Given the description of an element on the screen output the (x, y) to click on. 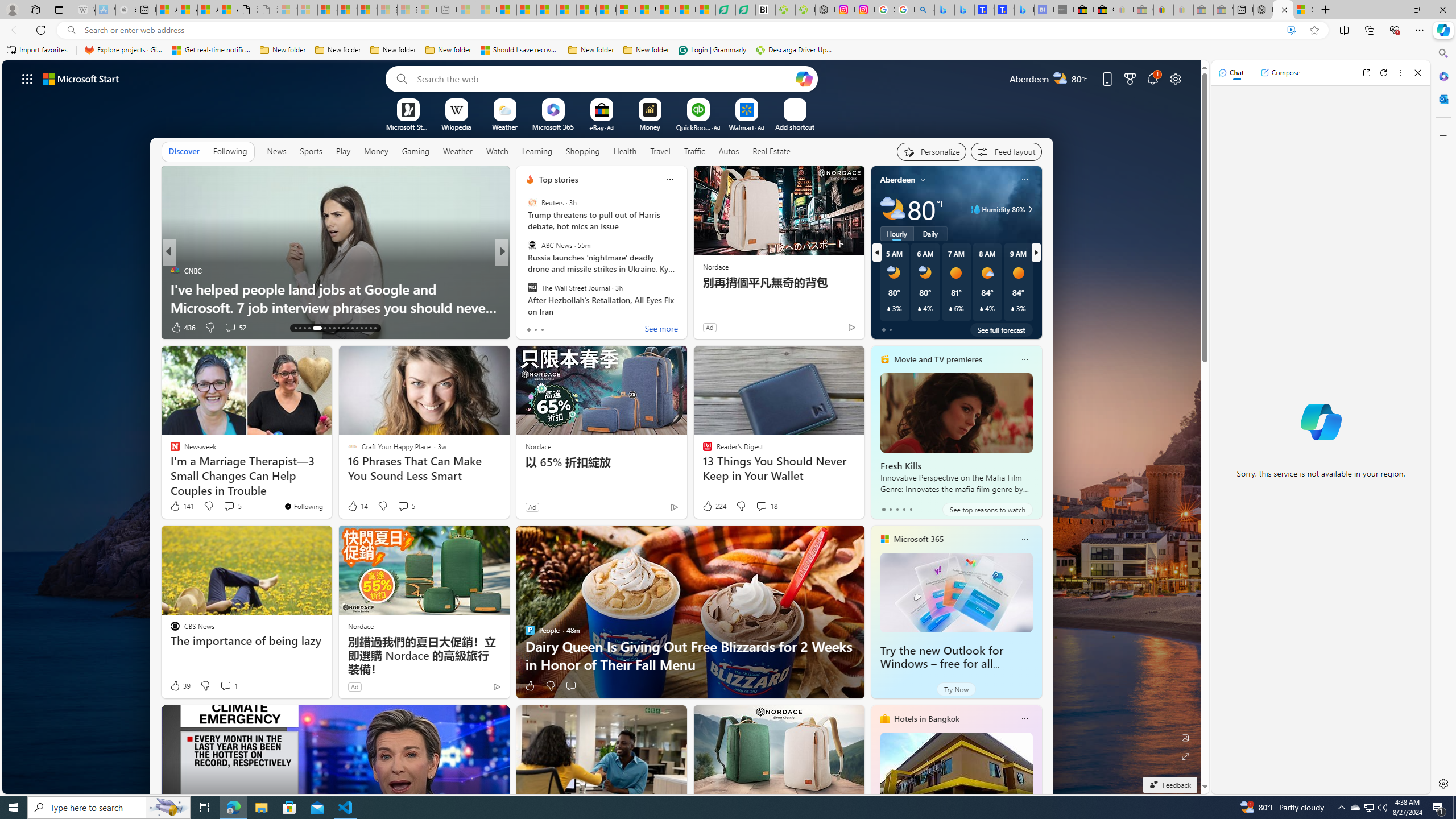
Buy iPad - Apple - Sleeping (125, 9)
436 Like (182, 327)
Add a site (793, 126)
60 Like (530, 327)
View comments 5 Comment (403, 505)
Search icon (70, 29)
Expand background (1185, 756)
